Given the description of an element on the screen output the (x, y) to click on. 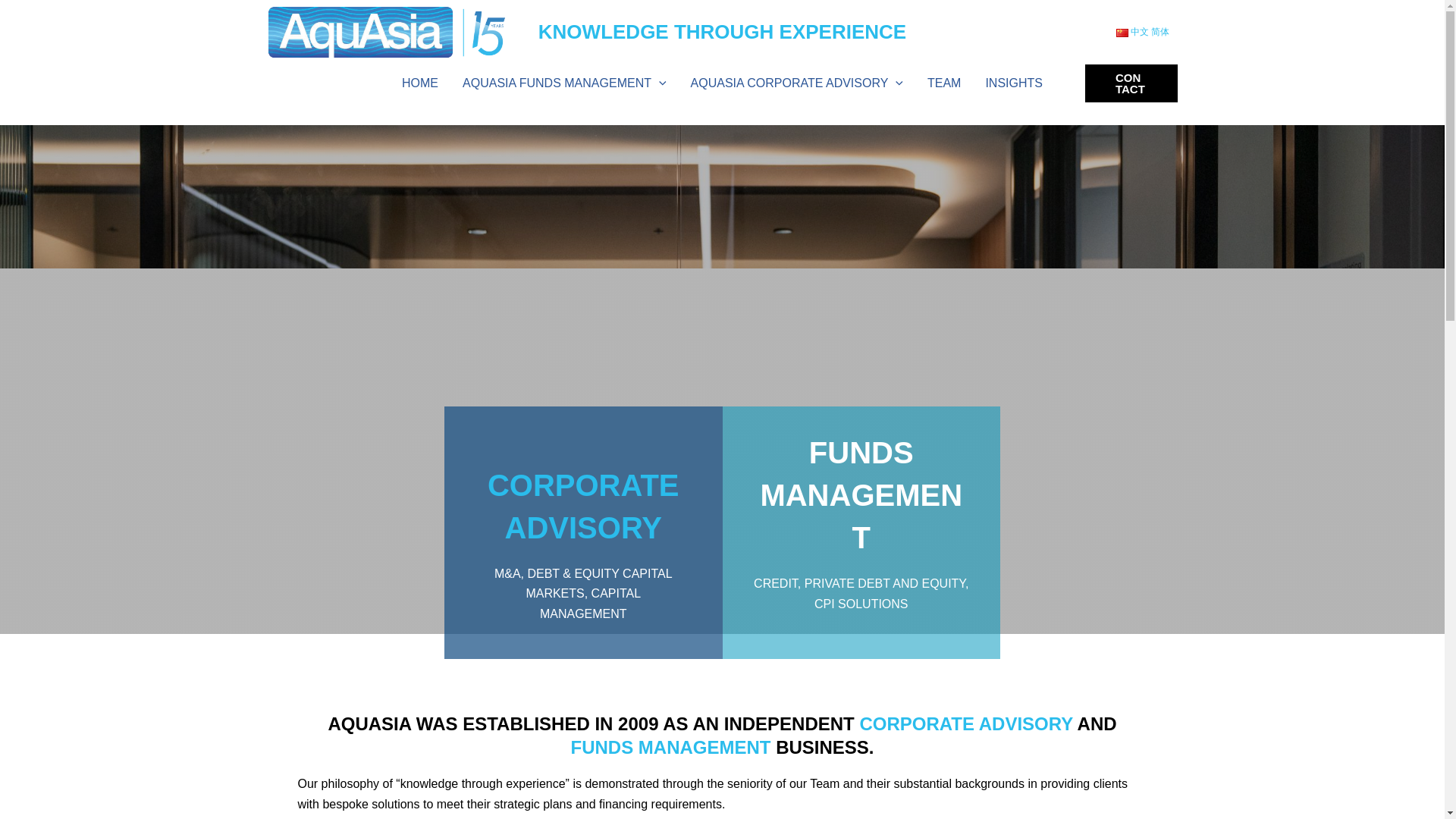
INSIGHTS (1013, 83)
CONTACT (1130, 83)
TEAM (943, 83)
Page 1 (722, 796)
AQUASIA FUNDS MANAGEMENT (563, 83)
Page 1 (583, 527)
AQUASIA CORPORATE ADVISORY (722, 735)
HOME (796, 83)
